Given the description of an element on the screen output the (x, y) to click on. 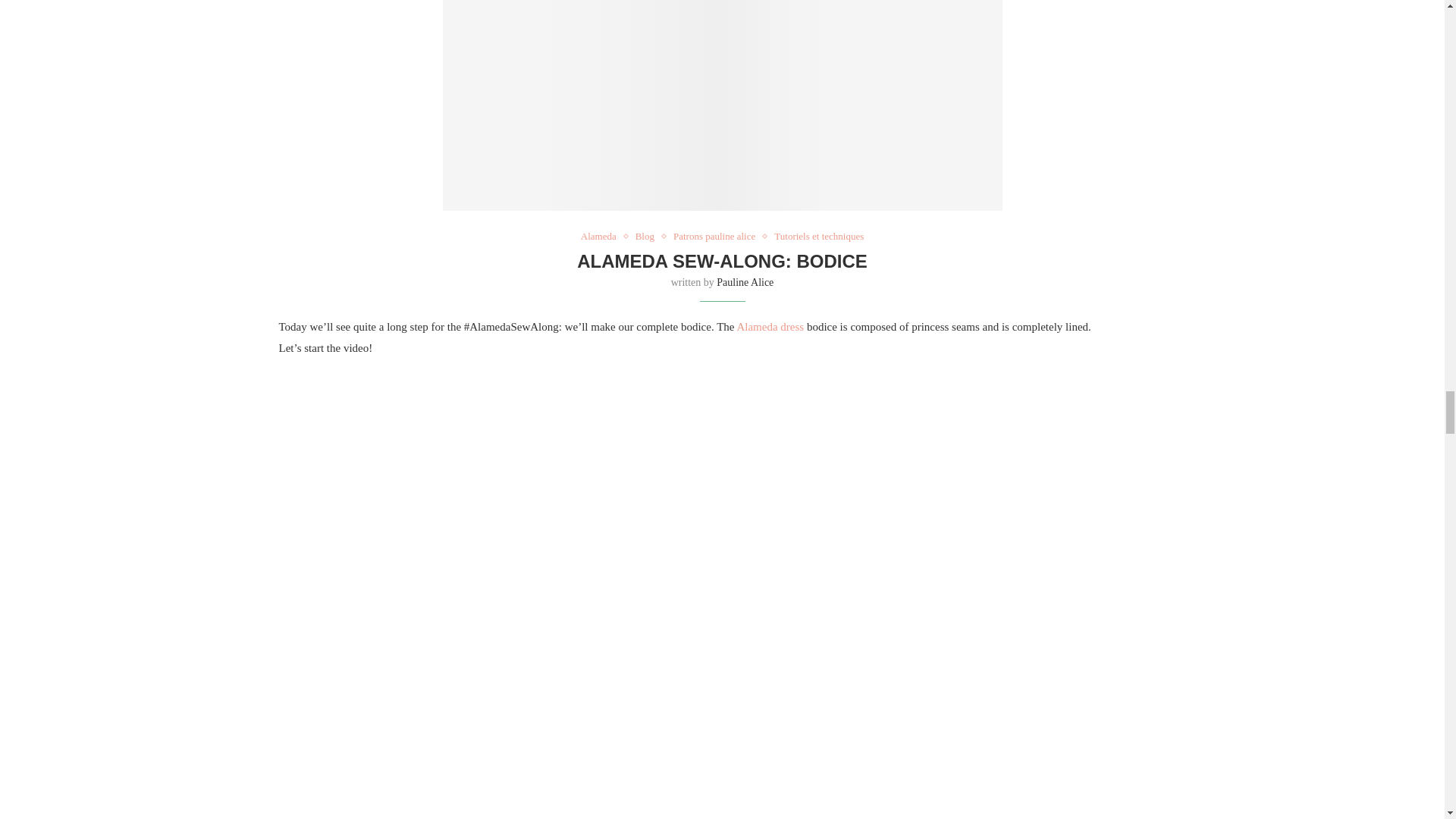
Blog (648, 236)
alameda-sew-along (722, 105)
Alameda (602, 236)
ALAMEDA SEW-ALONG: BODICE (721, 260)
Tutoriels et techniques (818, 236)
Patrons pauline alice (717, 236)
